Given the description of an element on the screen output the (x, y) to click on. 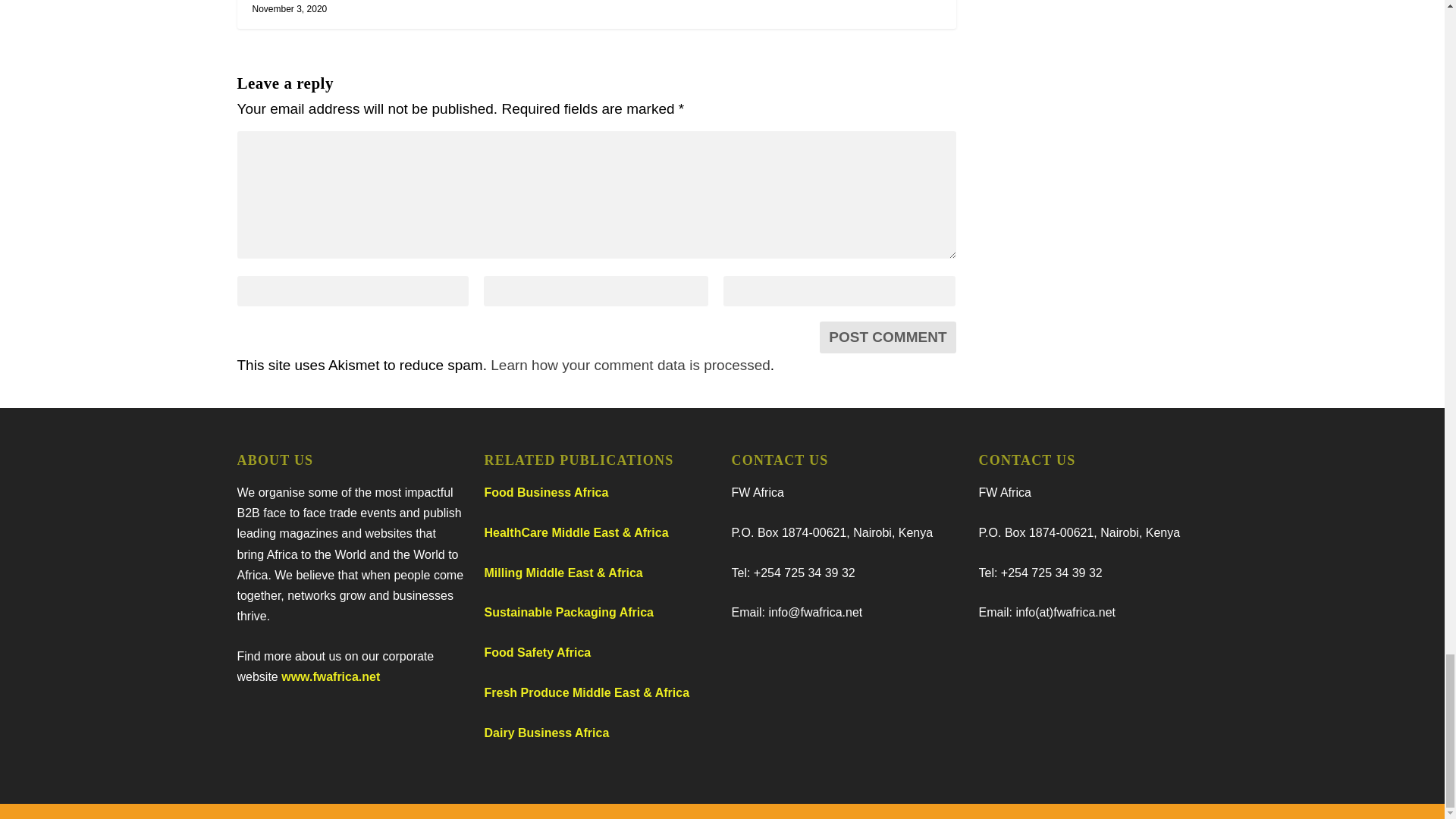
Post Comment (887, 336)
